Given the description of an element on the screen output the (x, y) to click on. 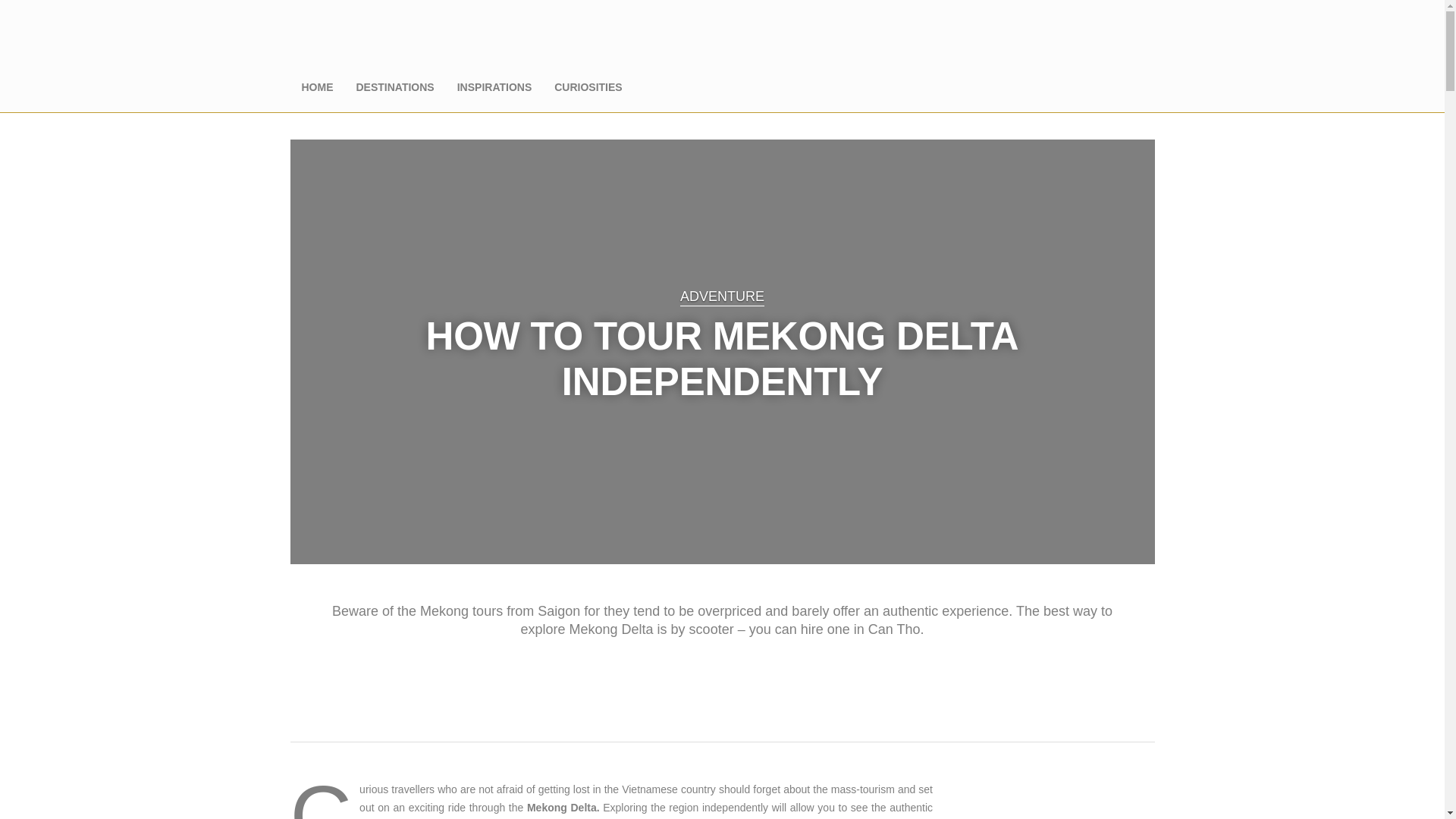
HOME (316, 86)
DESTINATIONS (394, 86)
Share on Facebook (684, 668)
Share on Pinterest (758, 668)
CURIOSITIES (588, 86)
INSPIRATIONS (494, 86)
Share on Twitter (720, 668)
